Given the description of an element on the screen output the (x, y) to click on. 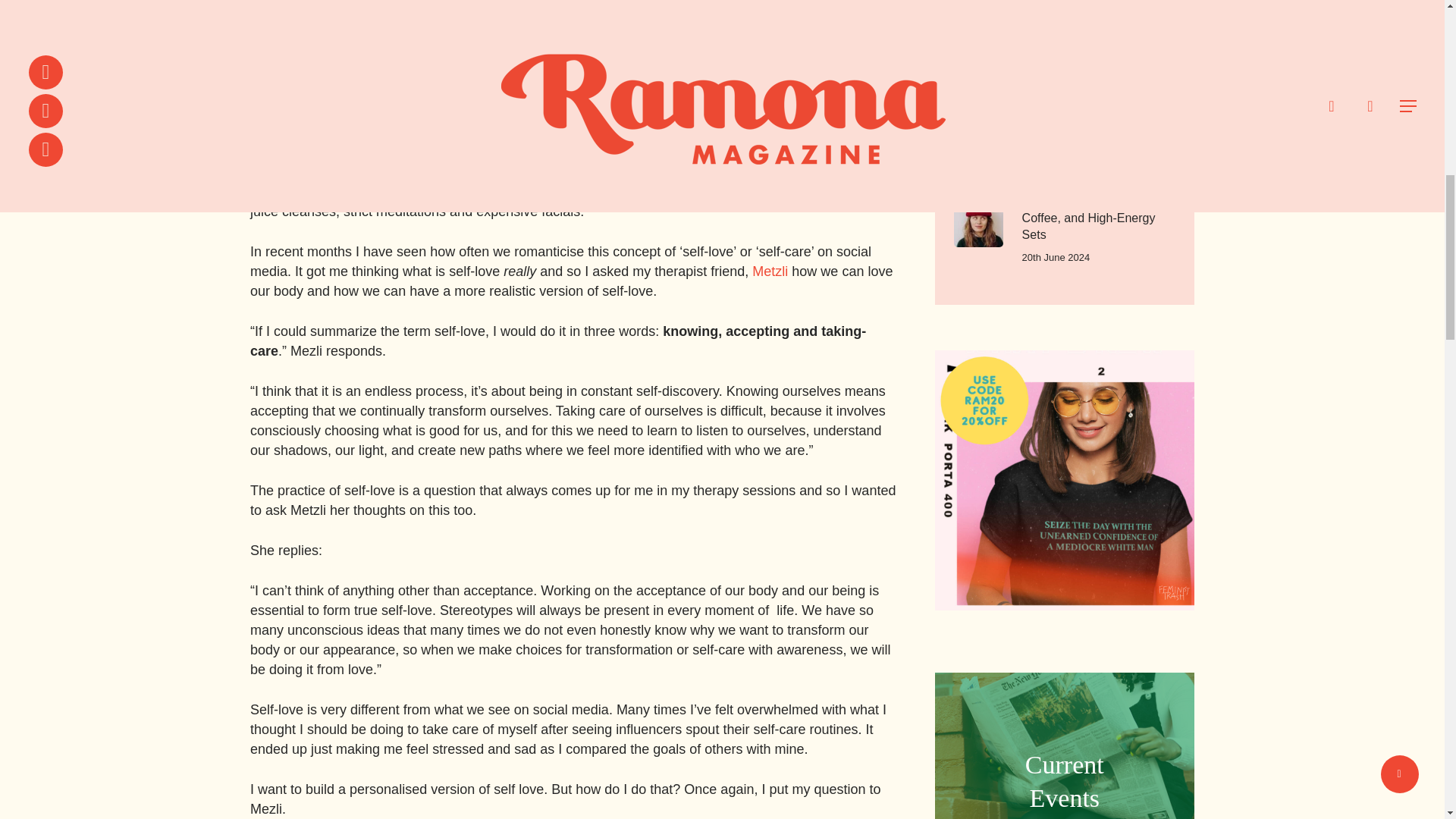
Metzli (1063, 745)
